Given the description of an element on the screen output the (x, y) to click on. 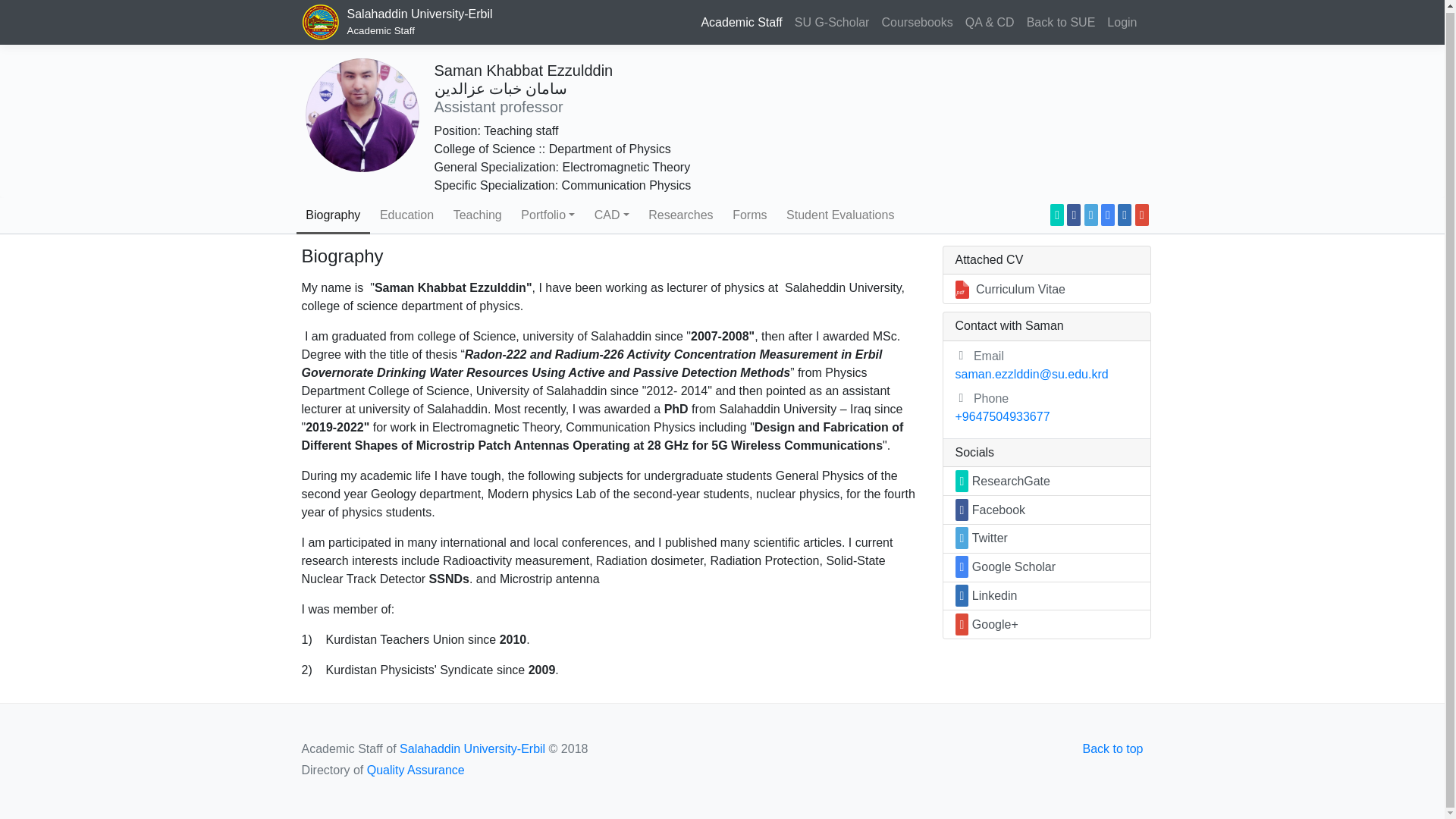
ResearchGate (1056, 214)
Forms (749, 215)
Twitter (1090, 214)
Google Scholar (400, 20)
Linkedin (1107, 214)
Login (1124, 214)
Biography (1121, 20)
Portfolio (332, 215)
Quality Assurance and Curriculum Development (548, 215)
Back to SUE (989, 20)
Researches (1061, 20)
Salahaddin University Google Scholar (680, 215)
CAD (832, 20)
SU G-Scholar (612, 215)
